Given the description of an element on the screen output the (x, y) to click on. 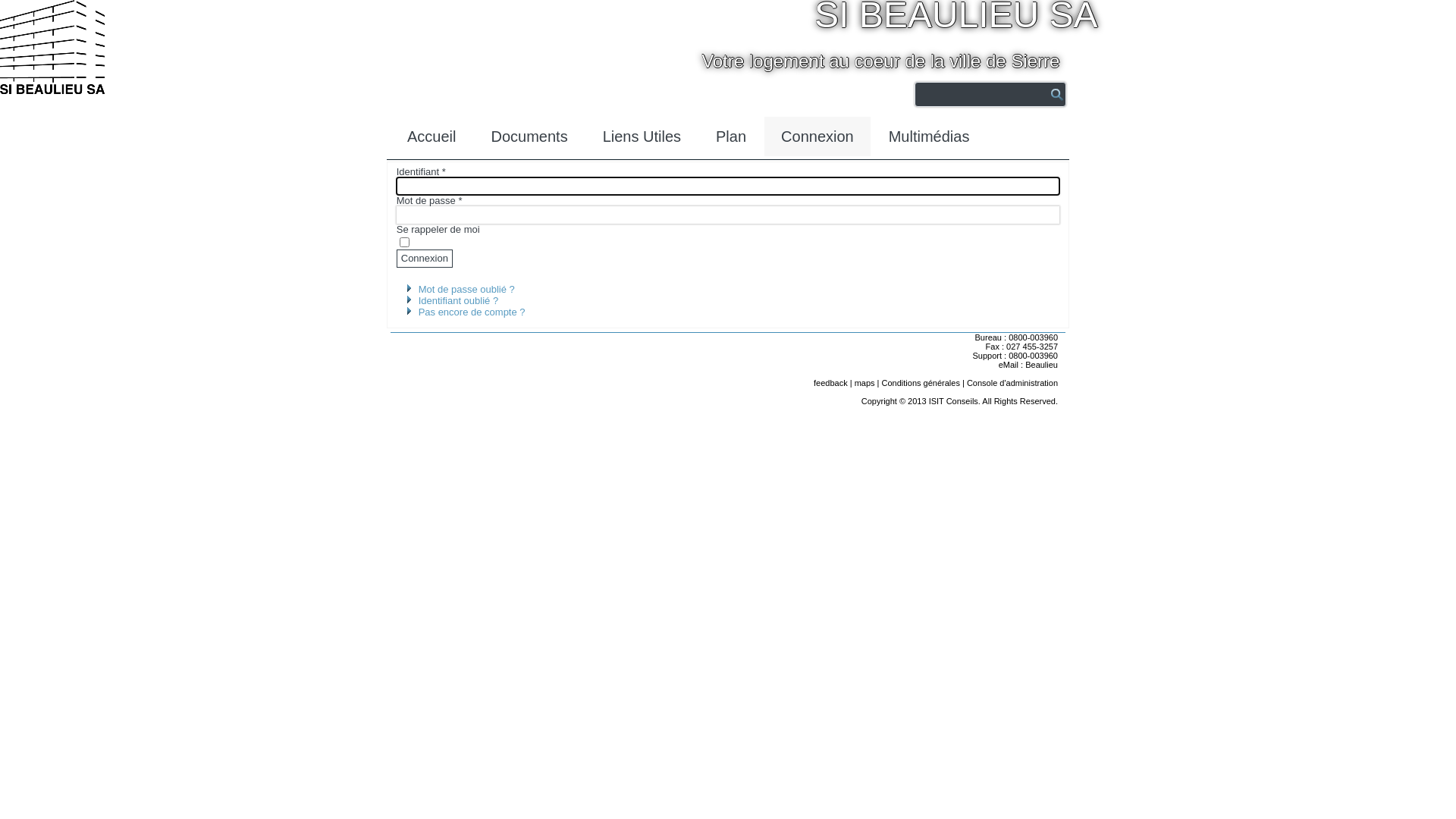
Connexion Element type: text (424, 258)
Liens Utiles Element type: text (641, 136)
Connexion Element type: text (817, 136)
ISIT Conseils Element type: text (953, 400)
Documents Element type: text (528, 136)
Accueil Element type: text (431, 136)
maps Element type: text (864, 382)
Beaulieu Element type: text (1041, 364)
Plan Element type: text (730, 136)
Console d'administration Element type: text (1011, 382)
feedback Element type: text (830, 382)
Pas encore de compte ? Element type: text (471, 311)
